Given the description of an element on the screen output the (x, y) to click on. 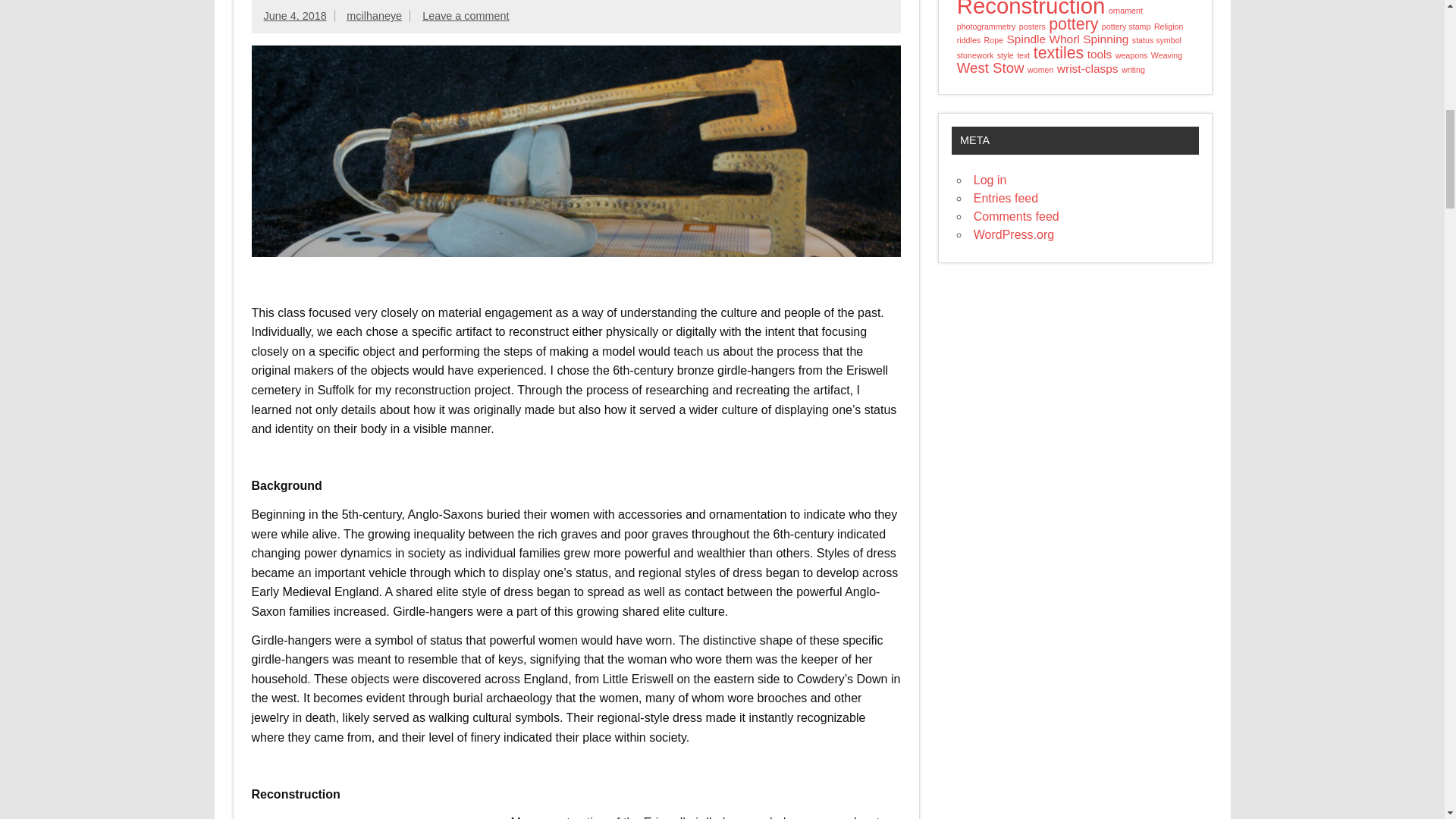
1:47 am (294, 15)
View all posts by mcilhaneye (373, 15)
mcilhaneye (373, 15)
June 4, 2018 (294, 15)
Leave a comment (465, 15)
